Given the description of an element on the screen output the (x, y) to click on. 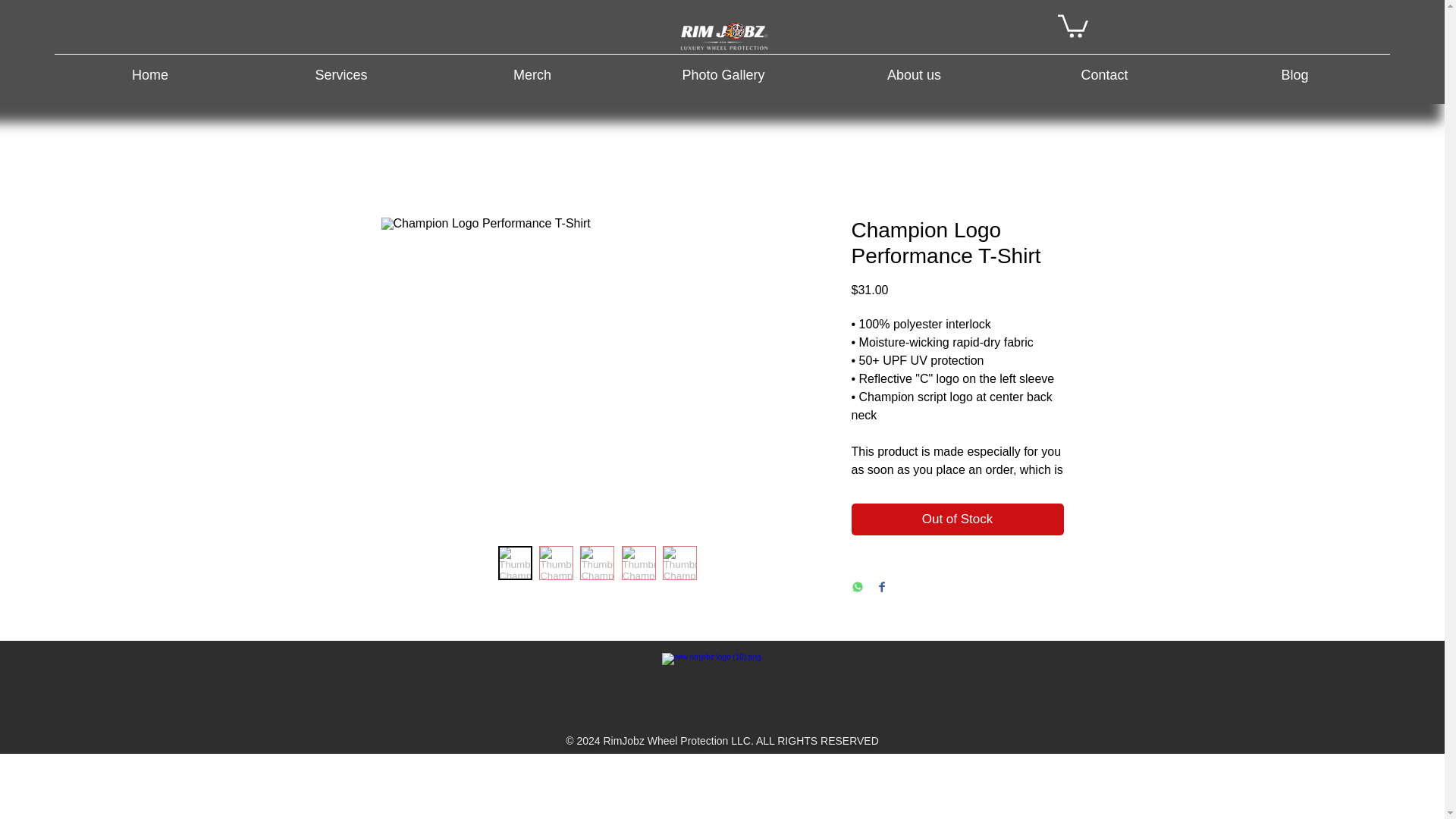
Merch (531, 68)
Photo Gallery (722, 68)
Contact (1104, 68)
Home (150, 68)
Blog (1294, 68)
Out of Stock (956, 519)
